Given the description of an element on the screen output the (x, y) to click on. 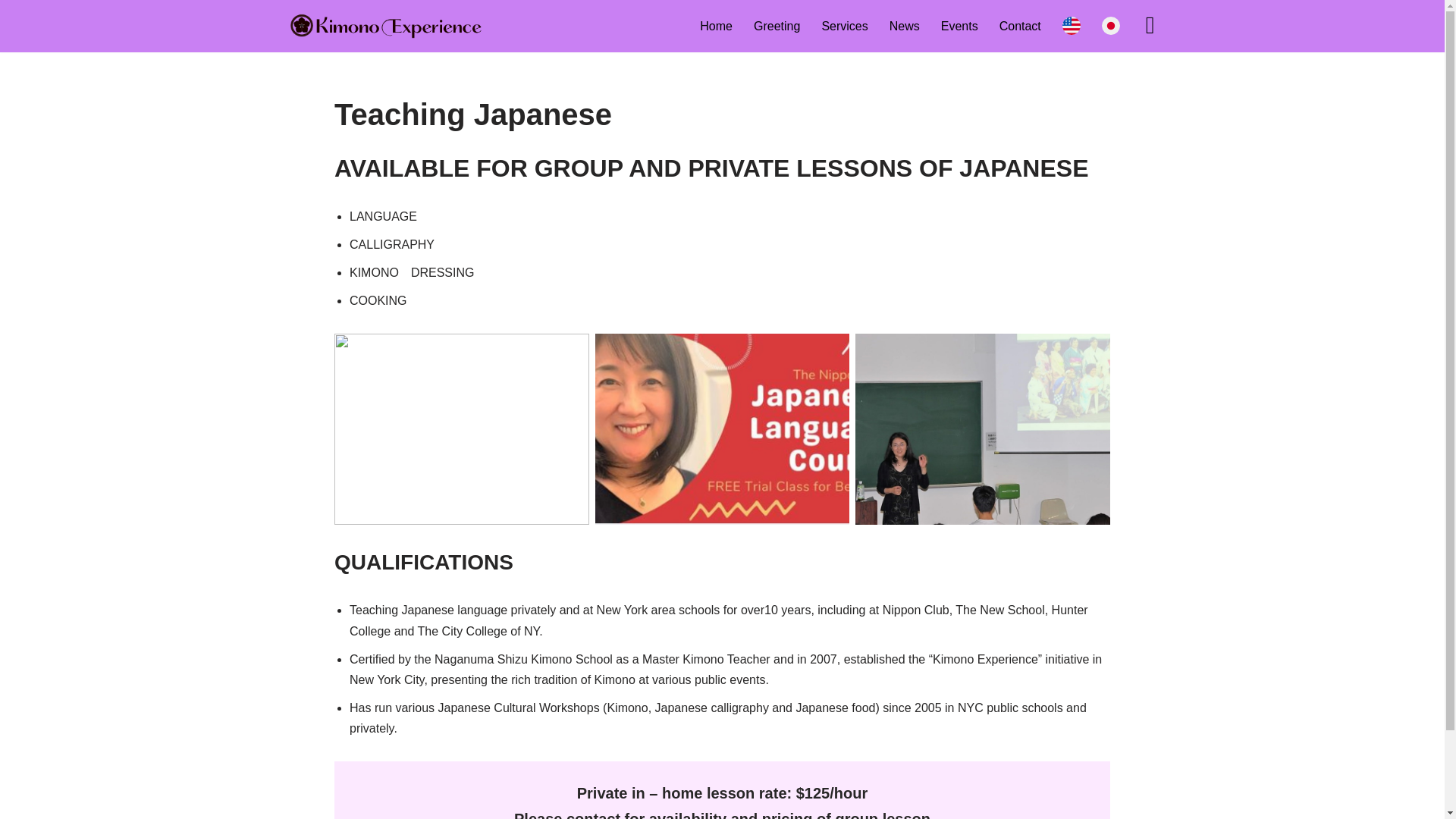
Skip to content (11, 31)
Services (844, 25)
Greeting (776, 25)
Events (959, 25)
Home (716, 25)
Contact (1019, 25)
News (904, 25)
